Given the description of an element on the screen output the (x, y) to click on. 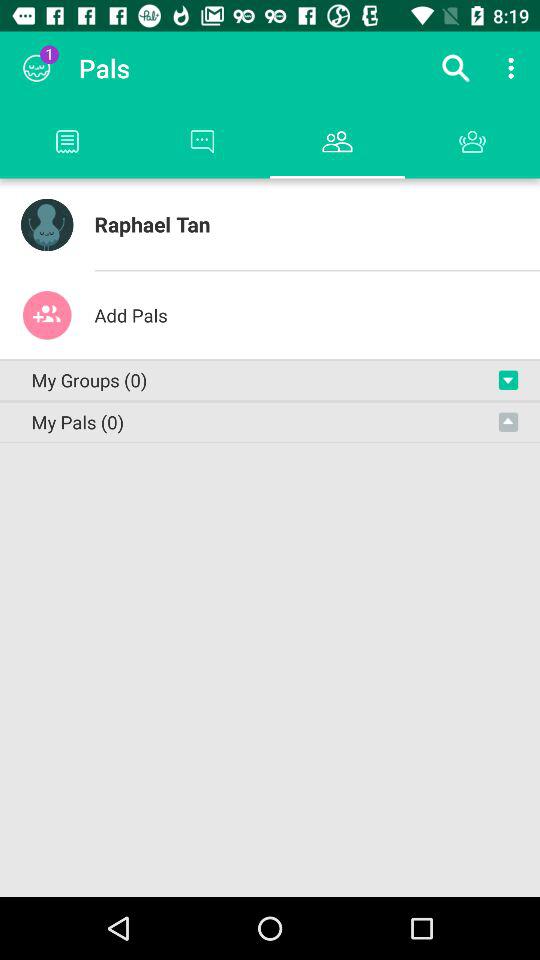
press the icon next to pals app (455, 67)
